Given the description of an element on the screen output the (x, y) to click on. 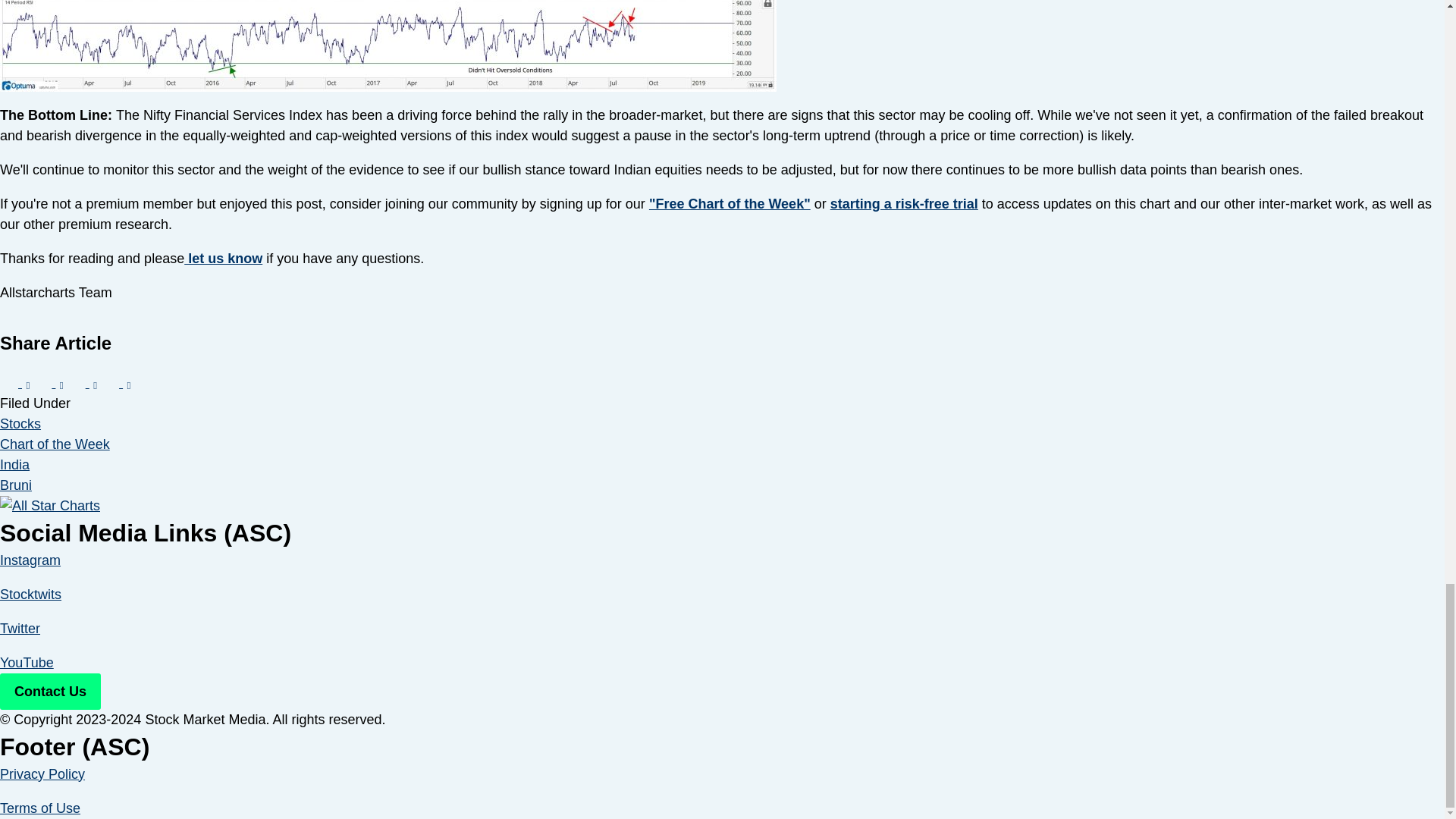
starting a risk-free trial (903, 203)
Twitter (20, 628)
Share to X (47, 382)
let us know (223, 258)
India (14, 464)
Instagram (30, 560)
Bruni (16, 485)
"Free Chart of the Week" (729, 203)
Stocks (20, 423)
Share to Facebook (14, 382)
